Given the description of an element on the screen output the (x, y) to click on. 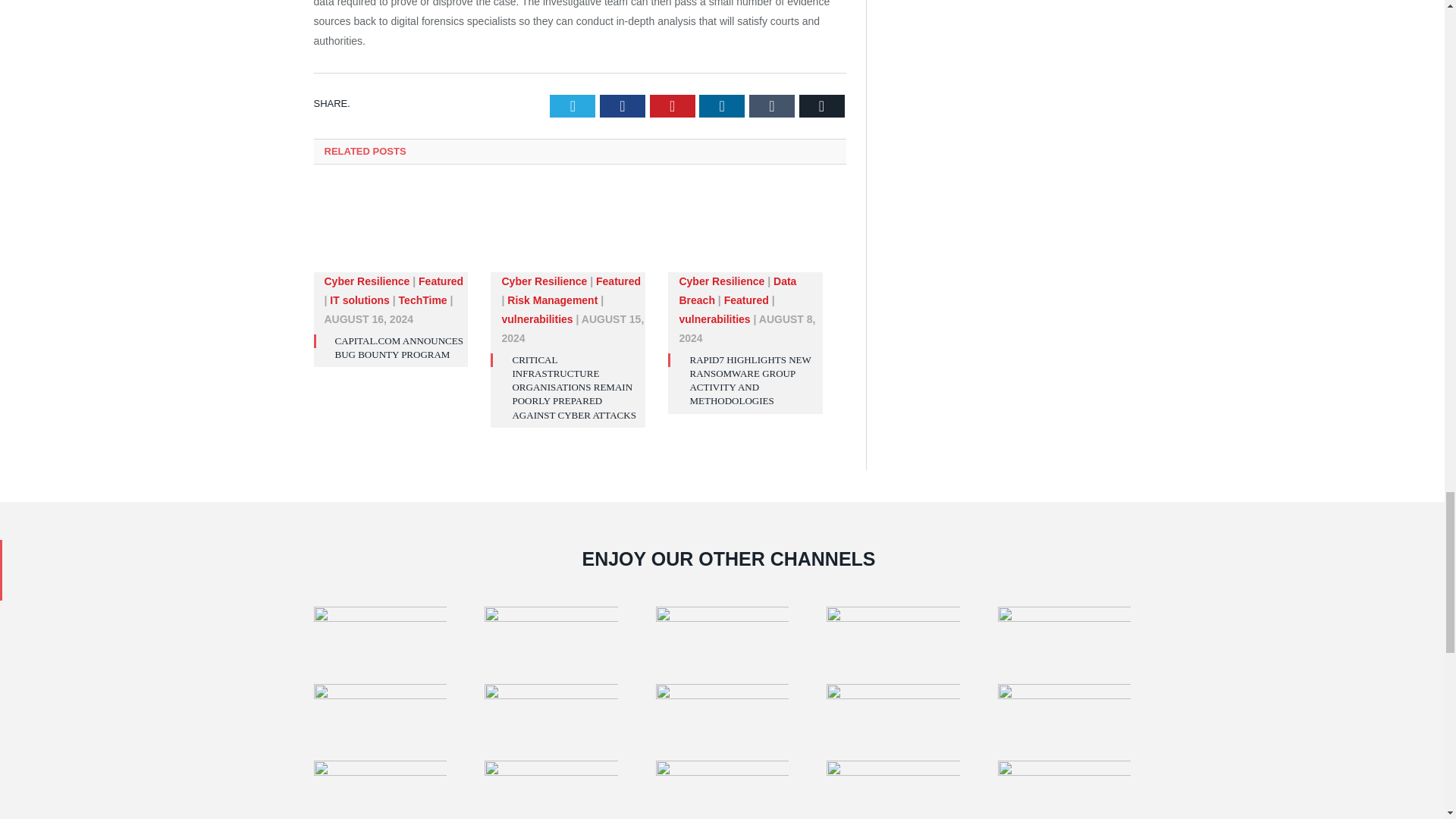
Share on LinkedIn (721, 106)
Capital.com Announces Bug Bounty Program (391, 235)
Capital.com Announces Bug Bounty Program (398, 347)
Tweet It (572, 106)
Share via Email (821, 106)
Share on Facebook (622, 106)
Share on Tumblr (771, 106)
Share on Pinterest (672, 106)
